Given the description of an element on the screen output the (x, y) to click on. 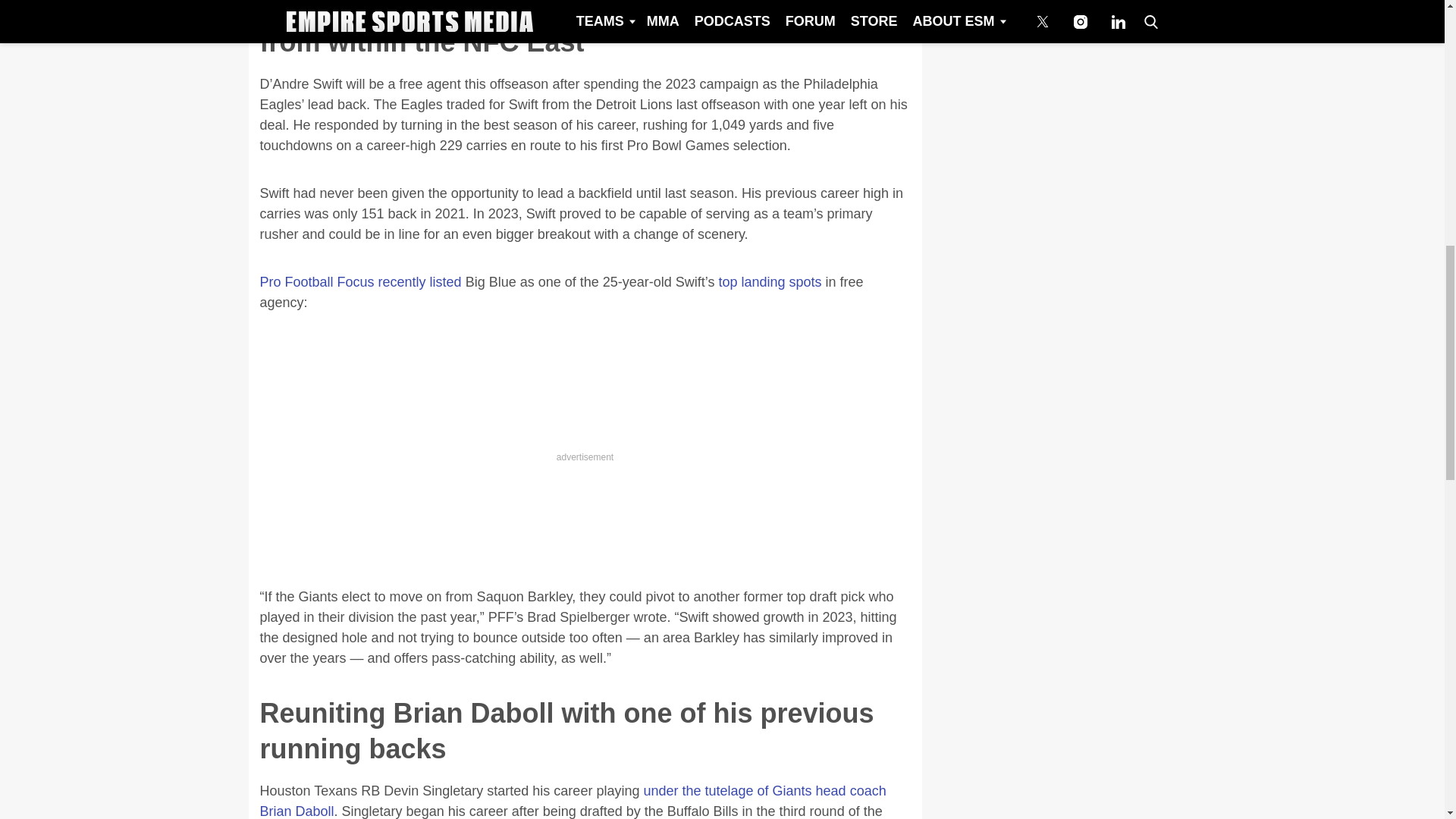
Pro Football Focus recently listed (360, 281)
under the tutelage of Giants head coach Brian Daboll (572, 800)
top landing spots (769, 281)
